Given the description of an element on the screen output the (x, y) to click on. 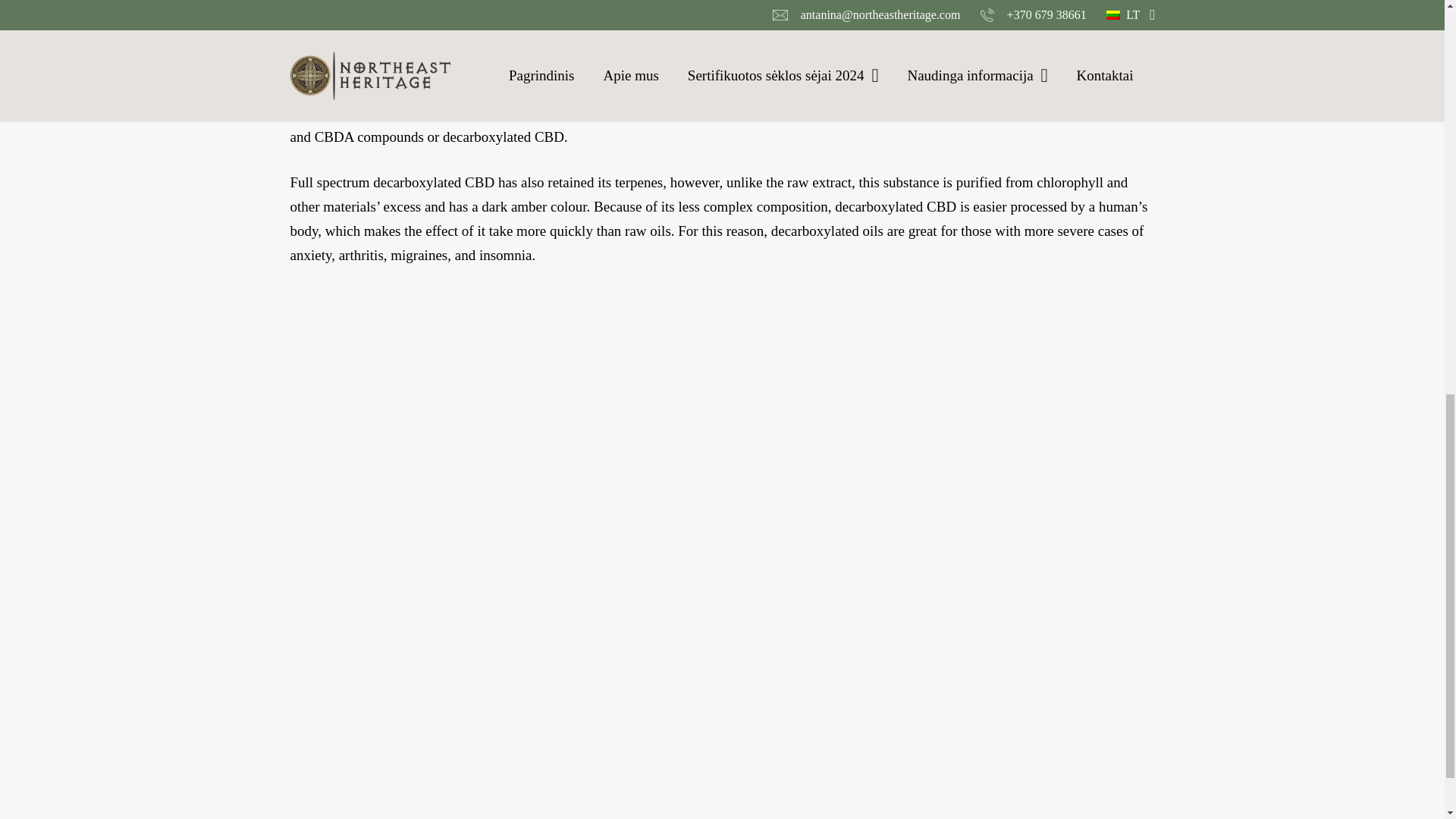
Papildoma informacija (485, 51)
